Given the description of an element on the screen output the (x, y) to click on. 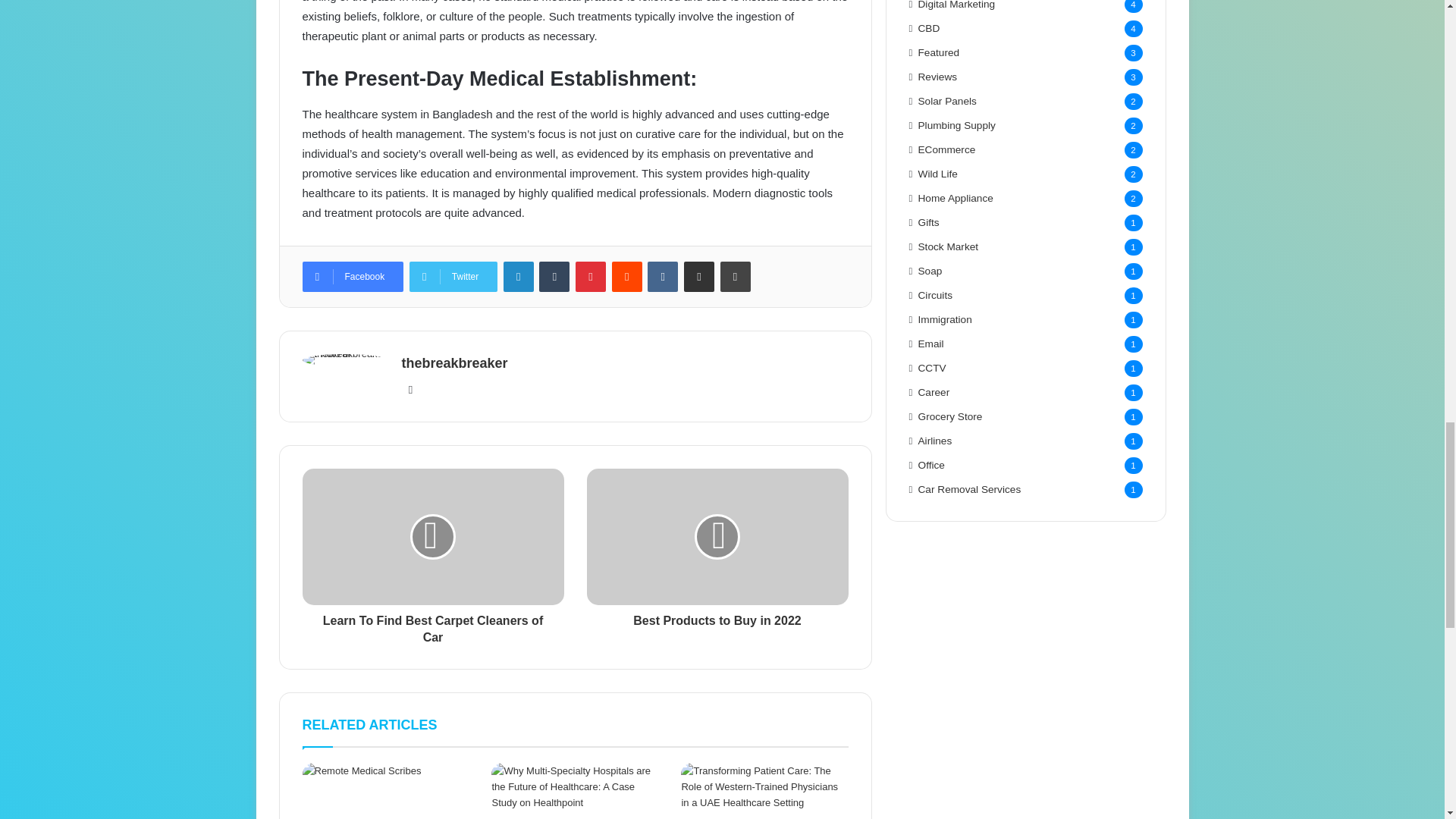
LinkedIn (518, 276)
Reddit (626, 276)
Share via Email (699, 276)
Pinterest (590, 276)
Print (735, 276)
Reddit (626, 276)
VKontakte (662, 276)
VKontakte (662, 276)
LinkedIn (518, 276)
Twitter (453, 276)
Featured posts (938, 52)
Share via Email (699, 276)
Tumblr (553, 276)
Facebook (352, 276)
Tumblr (553, 276)
